Given the description of an element on the screen output the (x, y) to click on. 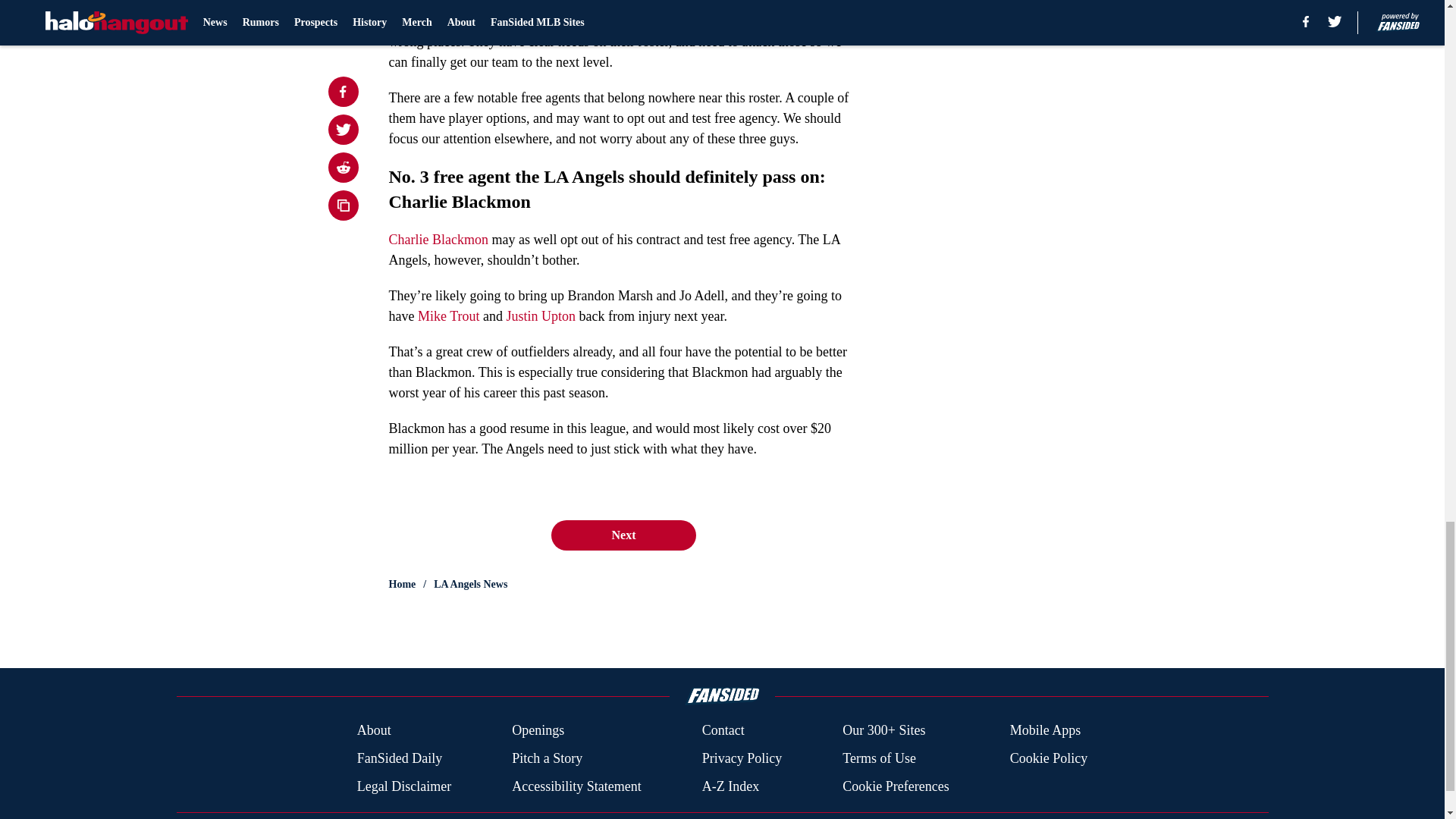
Terms of Use (879, 758)
About (373, 730)
FanSided Daily (399, 758)
Privacy Policy (742, 758)
Home (401, 584)
Contact (722, 730)
Mike Trout (448, 315)
Mobile Apps (1045, 730)
Cookie Policy (1048, 758)
Next (622, 535)
Halos have a lot of money (484, 20)
LA Angels News (469, 584)
Justin Upton (541, 315)
Openings (538, 730)
Charlie Blackmon (437, 239)
